Given the description of an element on the screen output the (x, y) to click on. 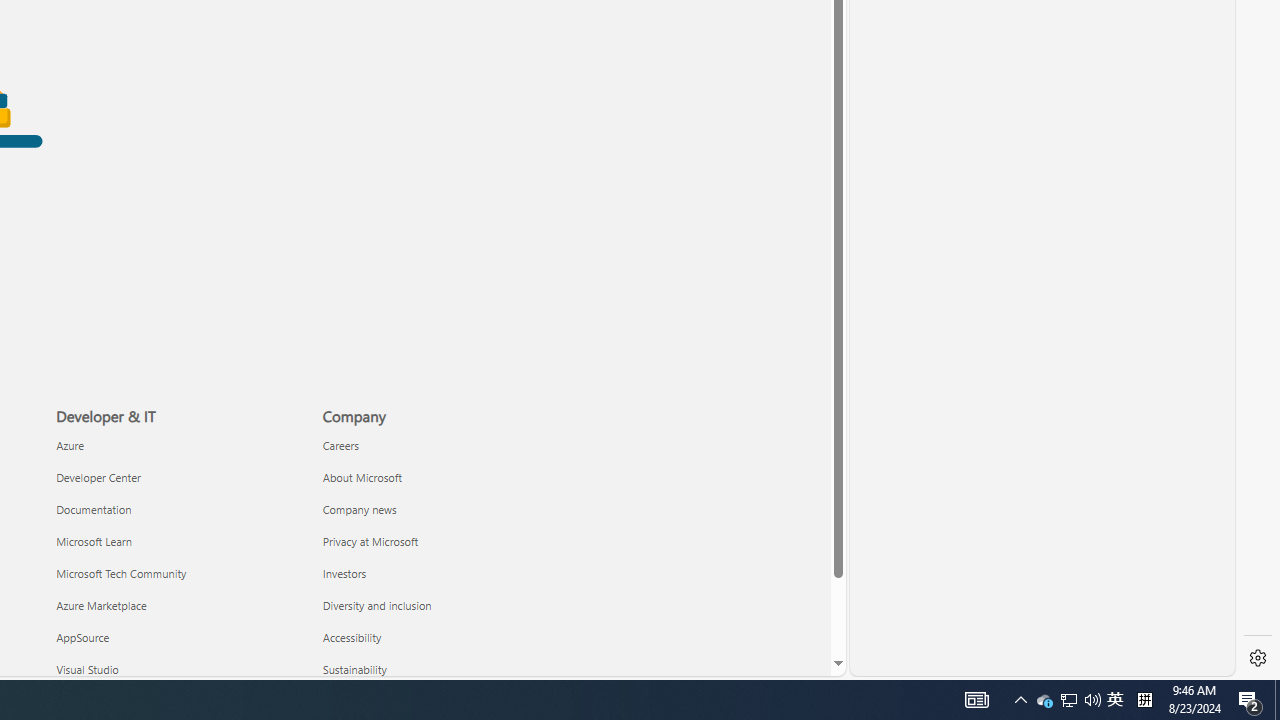
Privacy at Microsoft Company (370, 540)
Sustainability Company (354, 668)
Careers (443, 445)
About Microsoft Company (361, 476)
Careers Company (340, 444)
Company news Company (359, 508)
Accessibility Company (351, 637)
Diversity and inclusion Company (377, 604)
About Microsoft (443, 476)
Investors (443, 573)
Microsoft Tech Community Developer & IT (121, 573)
Diversity and inclusion (443, 605)
Sustainability (443, 669)
Microsoft Tech Community (177, 573)
Microsoft Learn (177, 541)
